Given the description of an element on the screen output the (x, y) to click on. 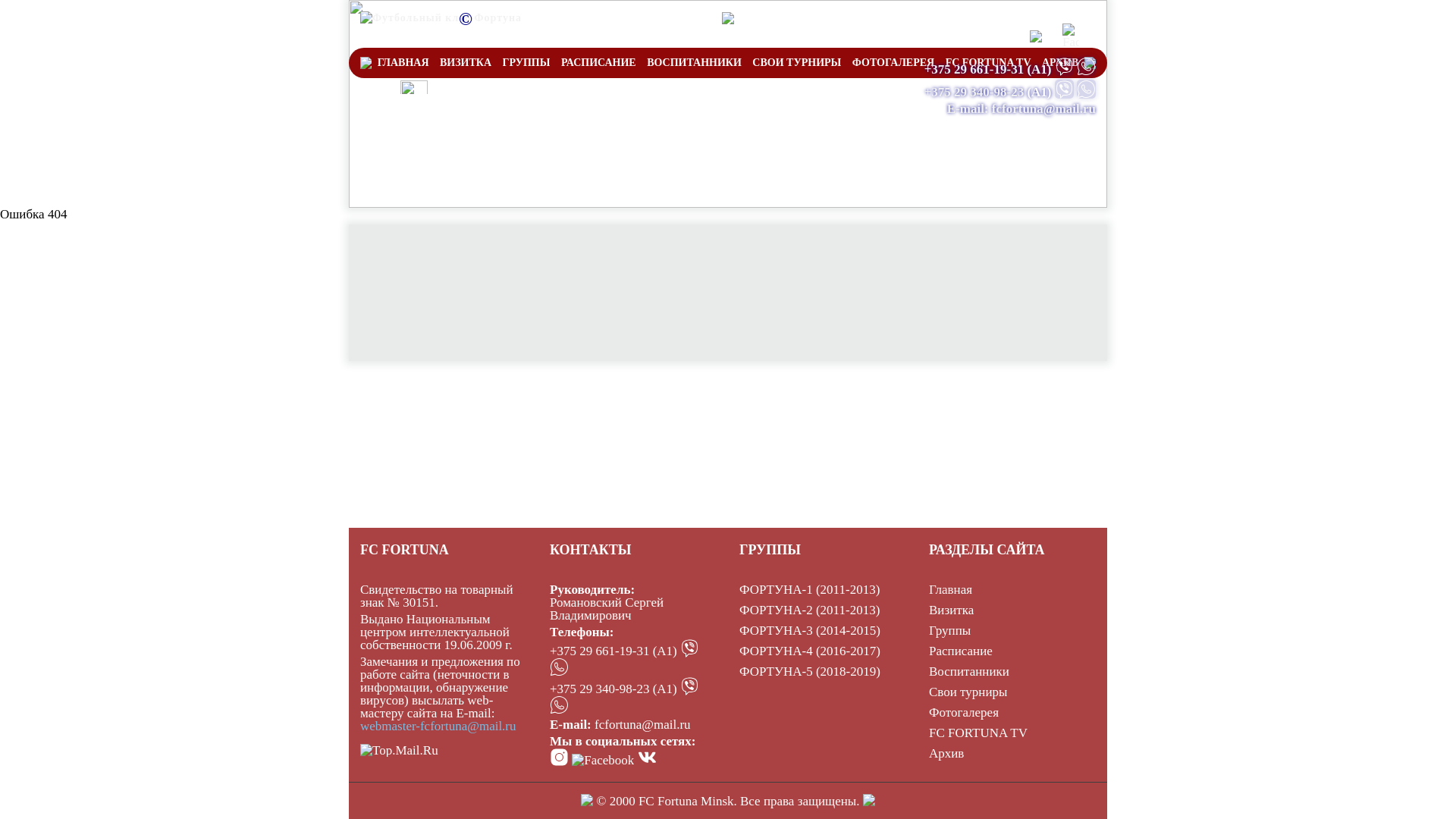
E-mail: fcfortuna@mail.ru Element type: text (1021, 108)
webmaster-fcfortuna@mail.ru Element type: text (438, 725)
fcfortuna@mail.ru Element type: text (642, 724)
+375 29 661-19-31 Element type: text (974, 69)
FC FORTUNA TV Element type: text (988, 62)
+375 29 340-98-23 Element type: text (974, 91)
FC FORTUNA TV Element type: text (977, 732)
